Given the description of an element on the screen output the (x, y) to click on. 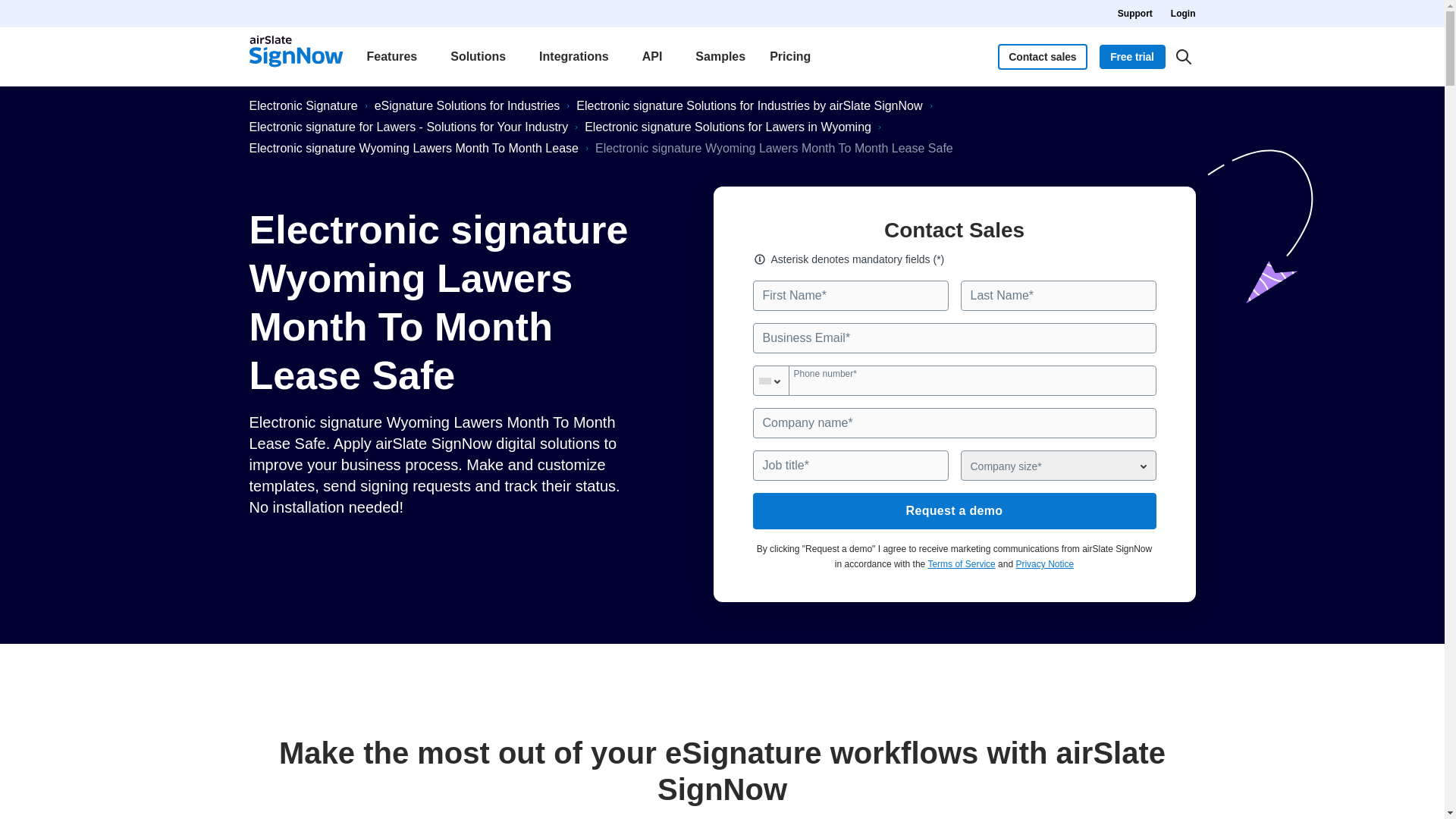
Support (1135, 13)
Integrations (578, 56)
Solutions (482, 56)
Search (1182, 56)
signNow (295, 56)
Login (1182, 13)
Features (396, 56)
